Given the description of an element on the screen output the (x, y) to click on. 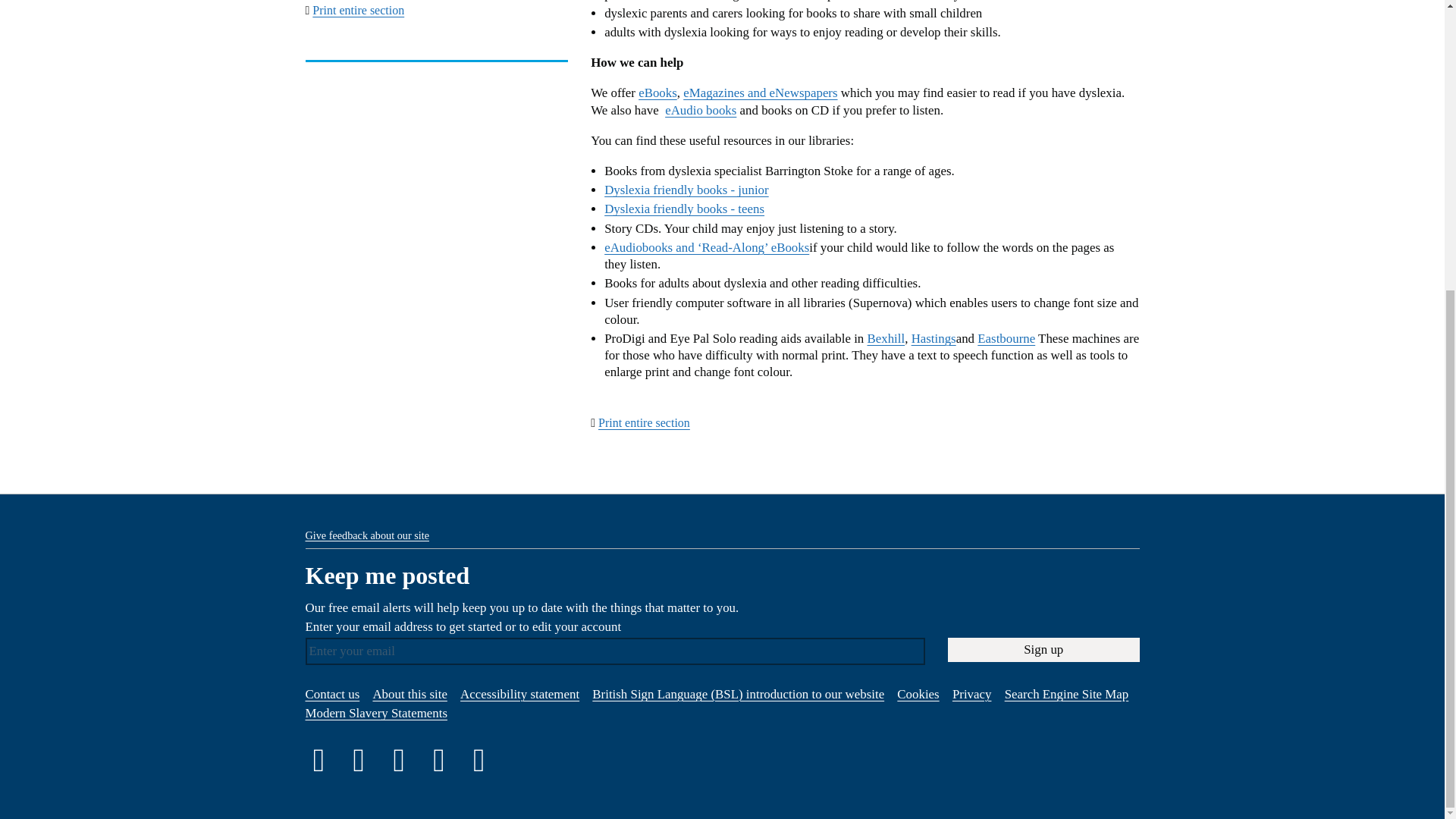
Search Engine Site Map (1066, 694)
Privacy (971, 694)
Contact us (331, 694)
Dyslexia friendly books - teens (684, 208)
eBooks (658, 92)
Hastings (933, 338)
Sign up (1043, 649)
eMagazines and eNewspapers (759, 92)
eAudio books (700, 110)
Modern Slavery Statements (375, 712)
Accessibility statement (519, 694)
Print entire section (644, 422)
Print entire section (358, 10)
Cookies (917, 694)
Give feedback about our site (366, 535)
